Given the description of an element on the screen output the (x, y) to click on. 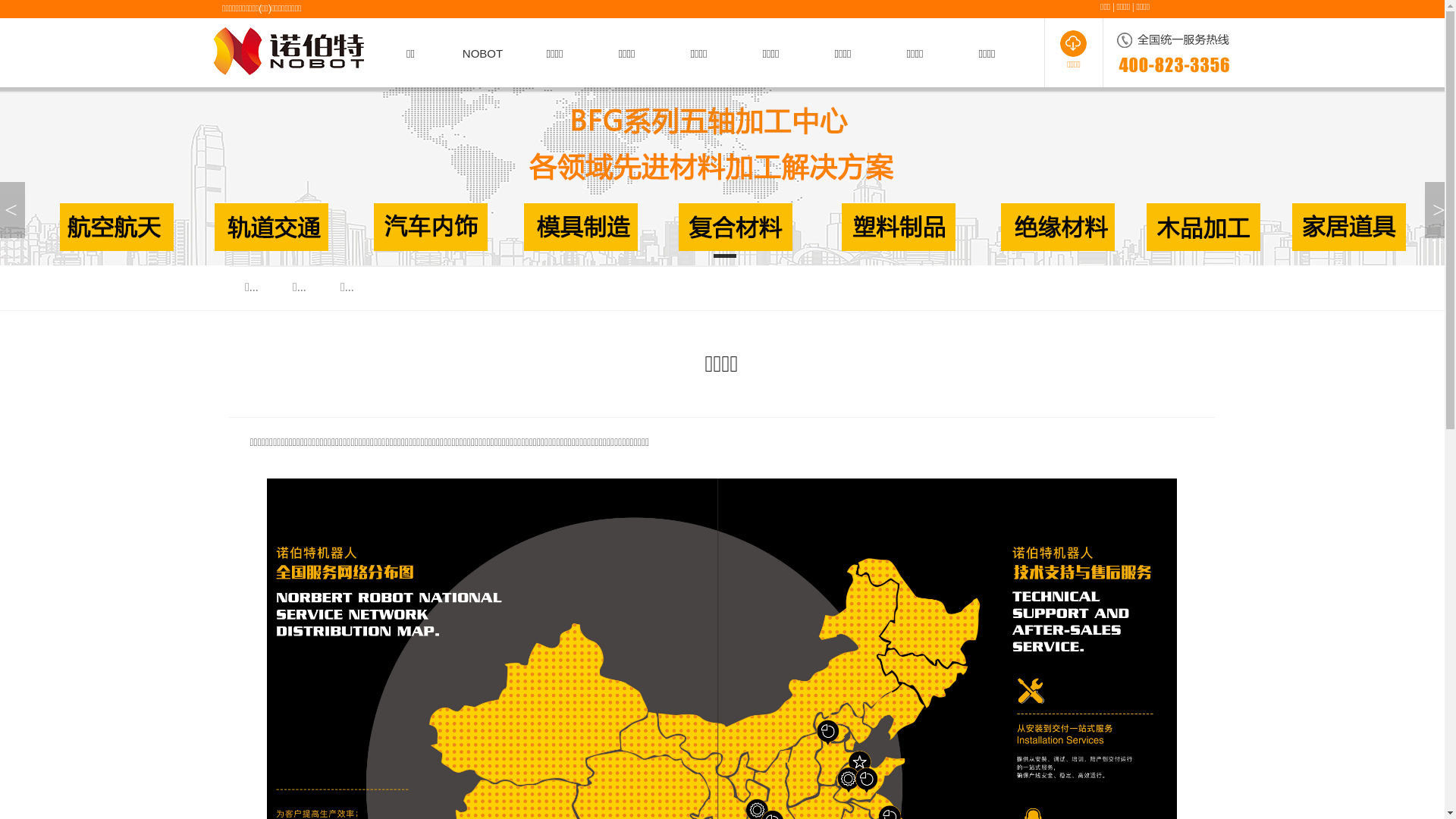
NOBOT Element type: text (482, 53)
